Given the description of an element on the screen output the (x, y) to click on. 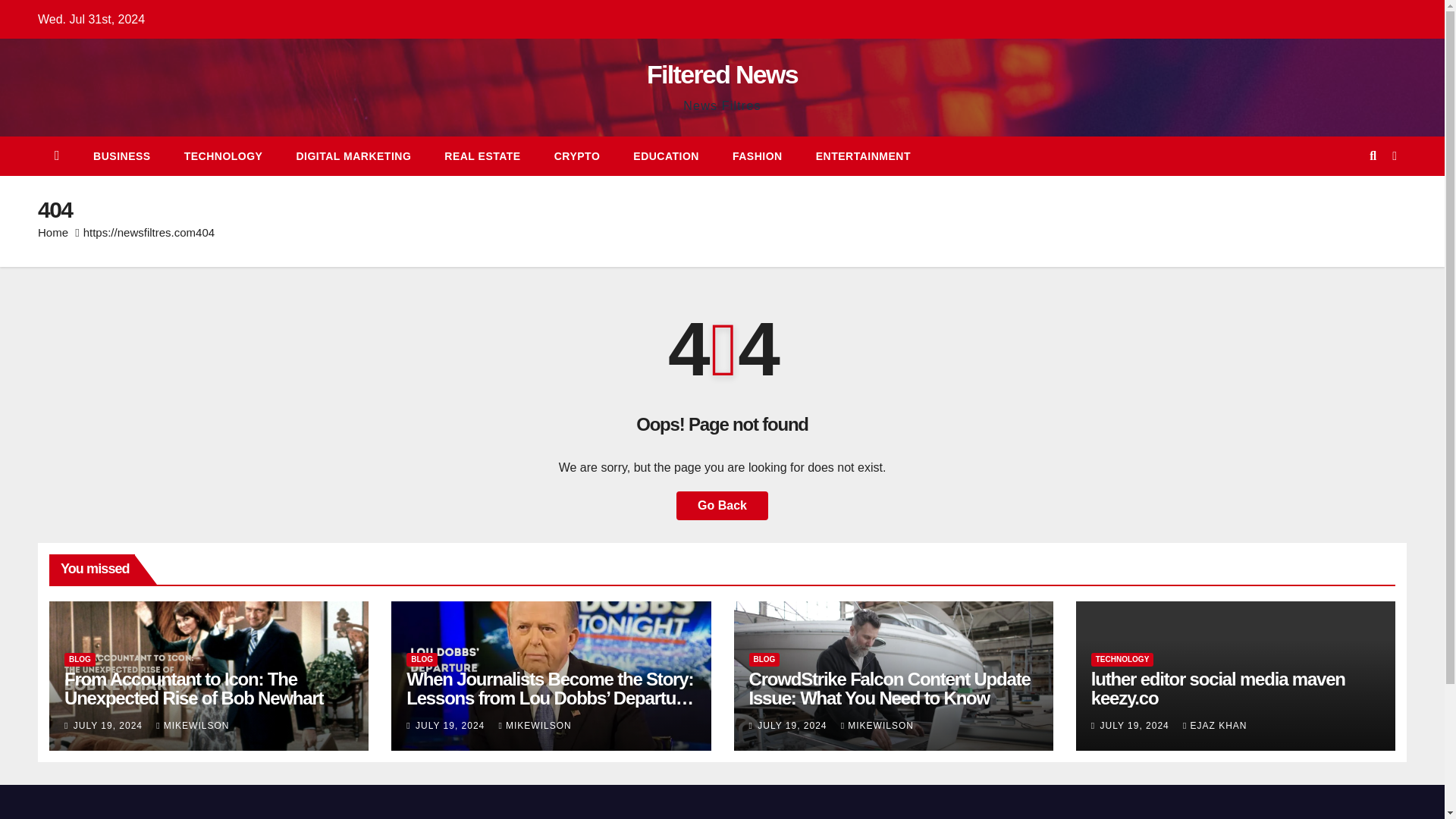
MIKEWILSON (877, 725)
BUSINESS (122, 156)
REAL ESTATE (482, 156)
ENTERTAINMENT (863, 156)
JULY 19, 2024 (450, 725)
Business (122, 156)
Technology (223, 156)
TECHNOLOGY (223, 156)
BLOG (422, 659)
TECHNOLOGY (1122, 659)
